Given the description of an element on the screen output the (x, y) to click on. 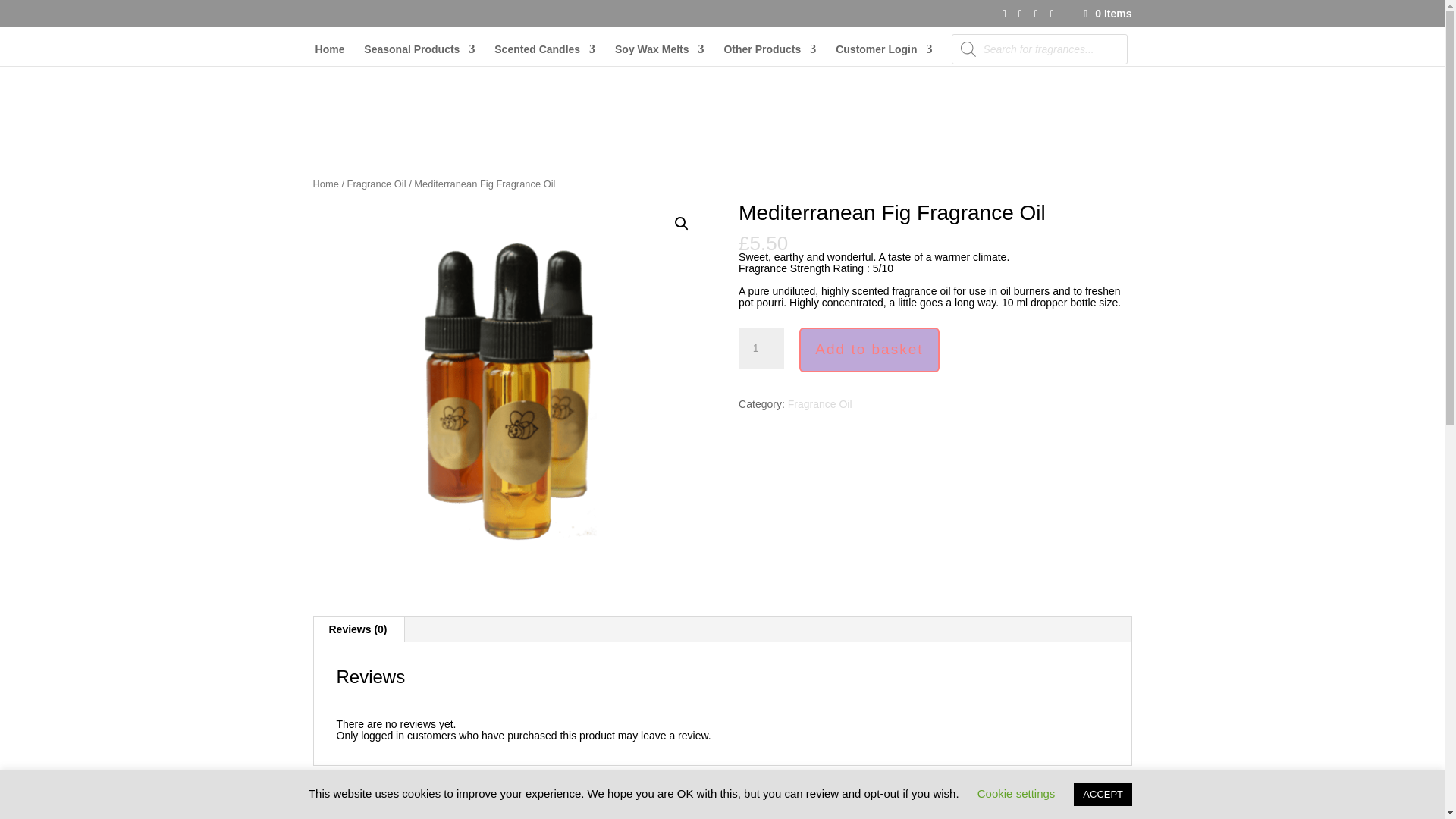
Customer Login (883, 55)
Scented Candles (545, 55)
Home (330, 55)
Seasonal Products (419, 55)
Soy Wax Melts (659, 55)
0 Items (1105, 13)
1 (761, 348)
Other Products (769, 55)
